Given the description of an element on the screen output the (x, y) to click on. 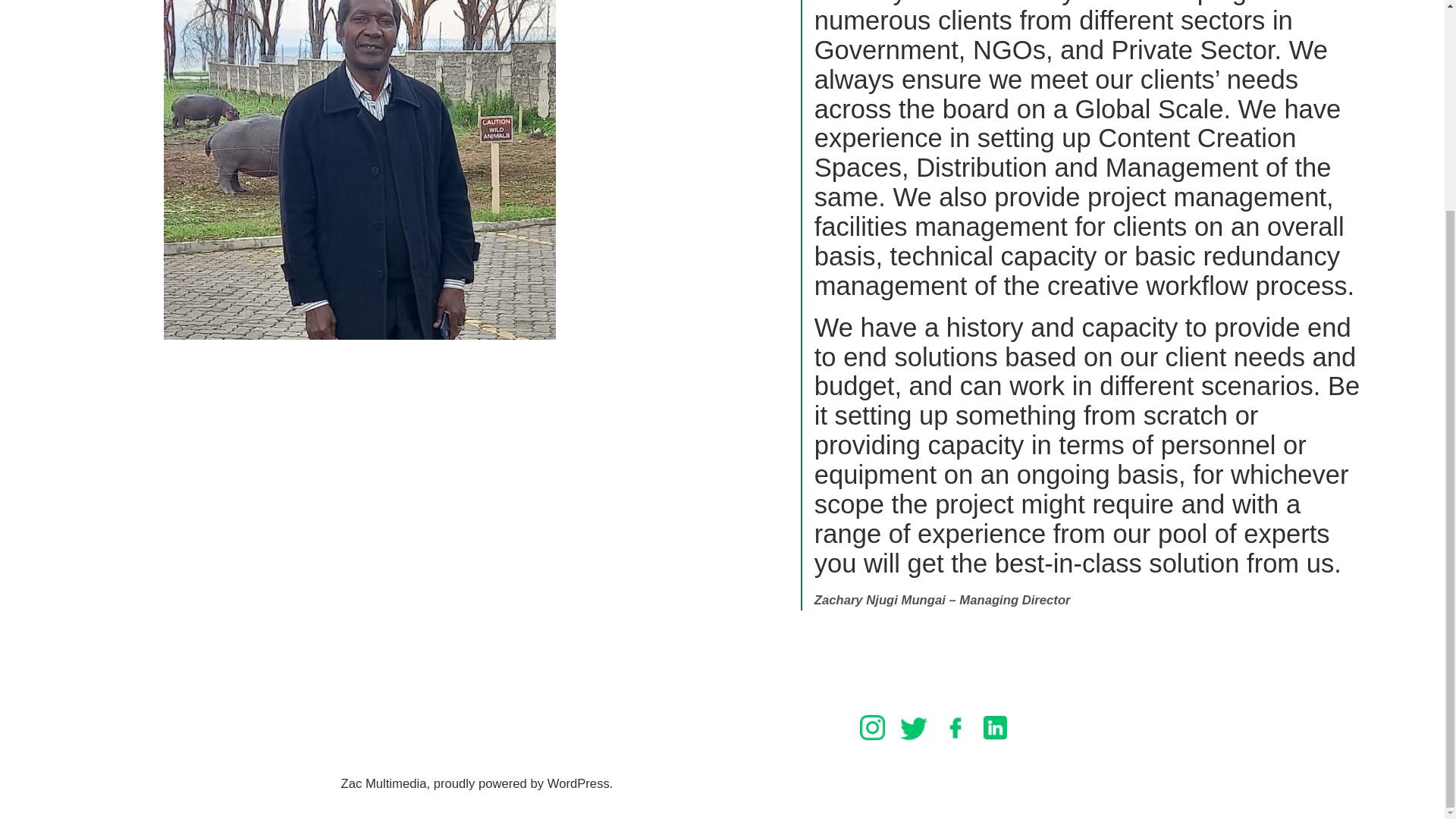
Zac Multimedia (383, 783)
proudly powered by WordPress (521, 783)
